Given the description of an element on the screen output the (x, y) to click on. 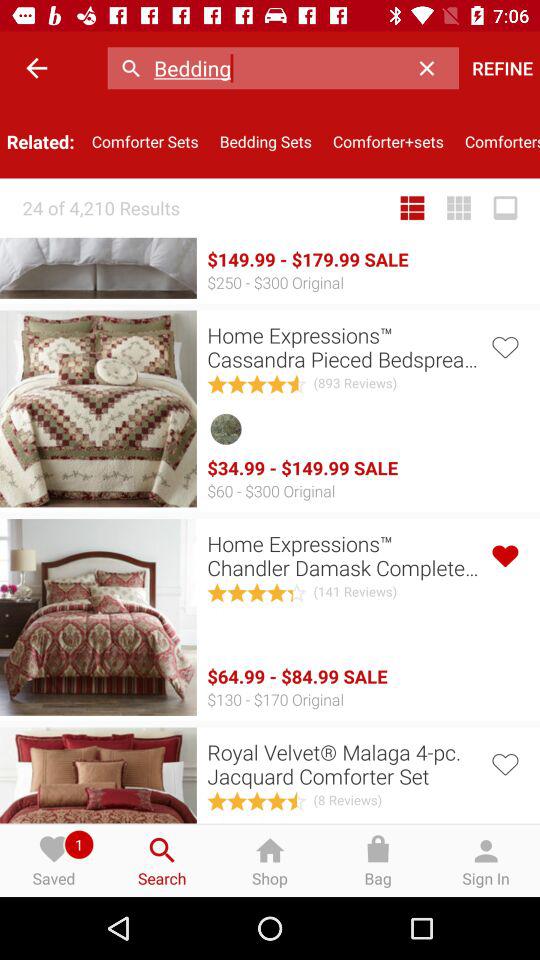
add to favorites (504, 345)
